Given the description of an element on the screen output the (x, y) to click on. 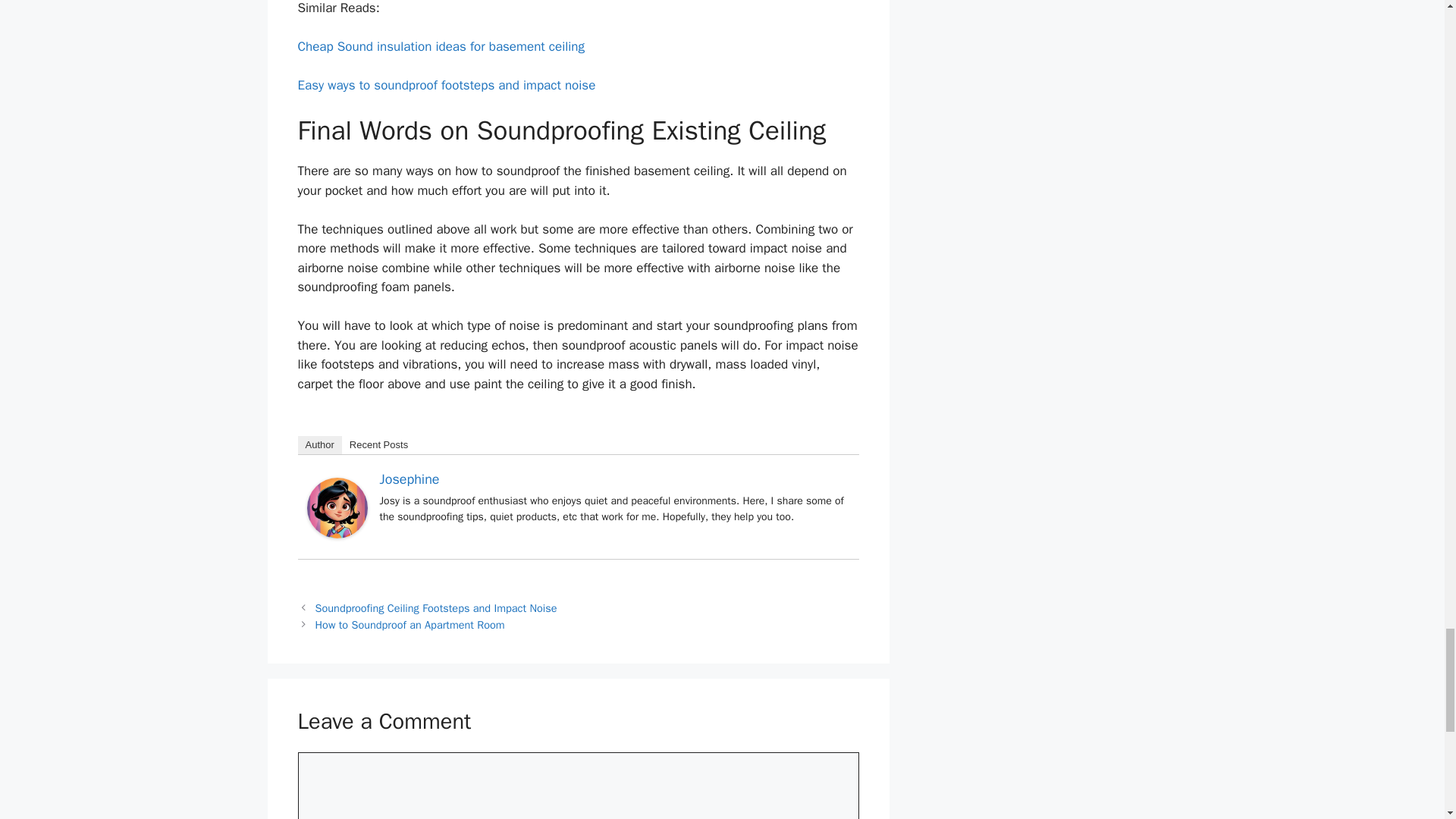
Easy ways to soundproof footsteps and impact noise (446, 84)
How to Soundproof an Apartment Room (410, 624)
Josephine (335, 534)
Cheap Sound insulation ideas for basement ceiling (441, 46)
Recent Posts (378, 444)
Josephine (408, 478)
Soundproofing Ceiling Footsteps and Impact Noise (436, 608)
Author (318, 444)
